Given the description of an element on the screen output the (x, y) to click on. 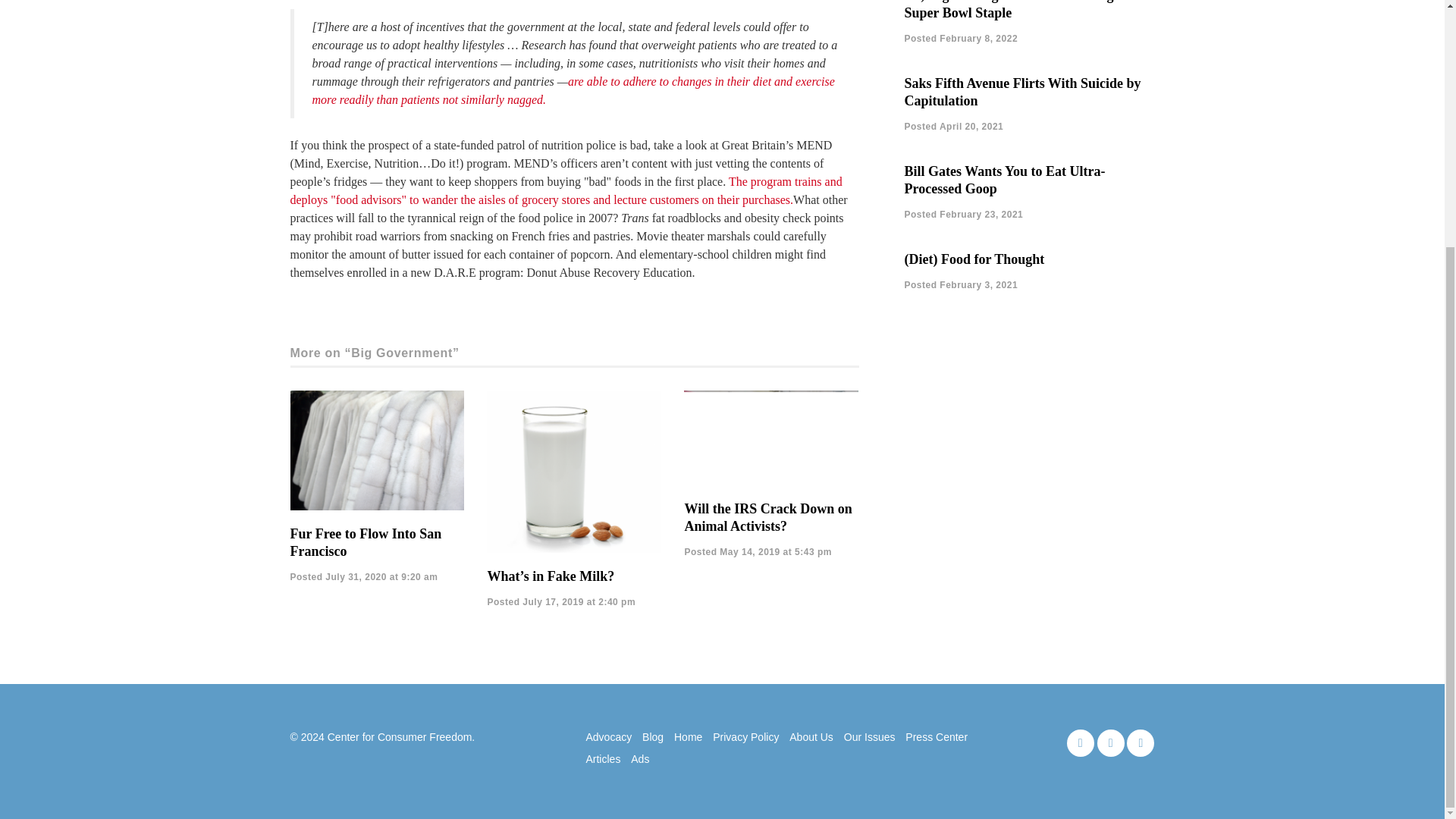
Saks Fifth Avenue Flirts With Suicide by Capitulation (1022, 92)
Will the IRS Crack Down on Animal Activists? (767, 517)
No, Vegan Wings Are Not Becoming A Super Bowl Staple (1014, 10)
Fur Free to Flow Into San Francisco (365, 542)
Bill Gates Wants You to Eat Ultra-Processed Goop (1004, 179)
